Given the description of an element on the screen output the (x, y) to click on. 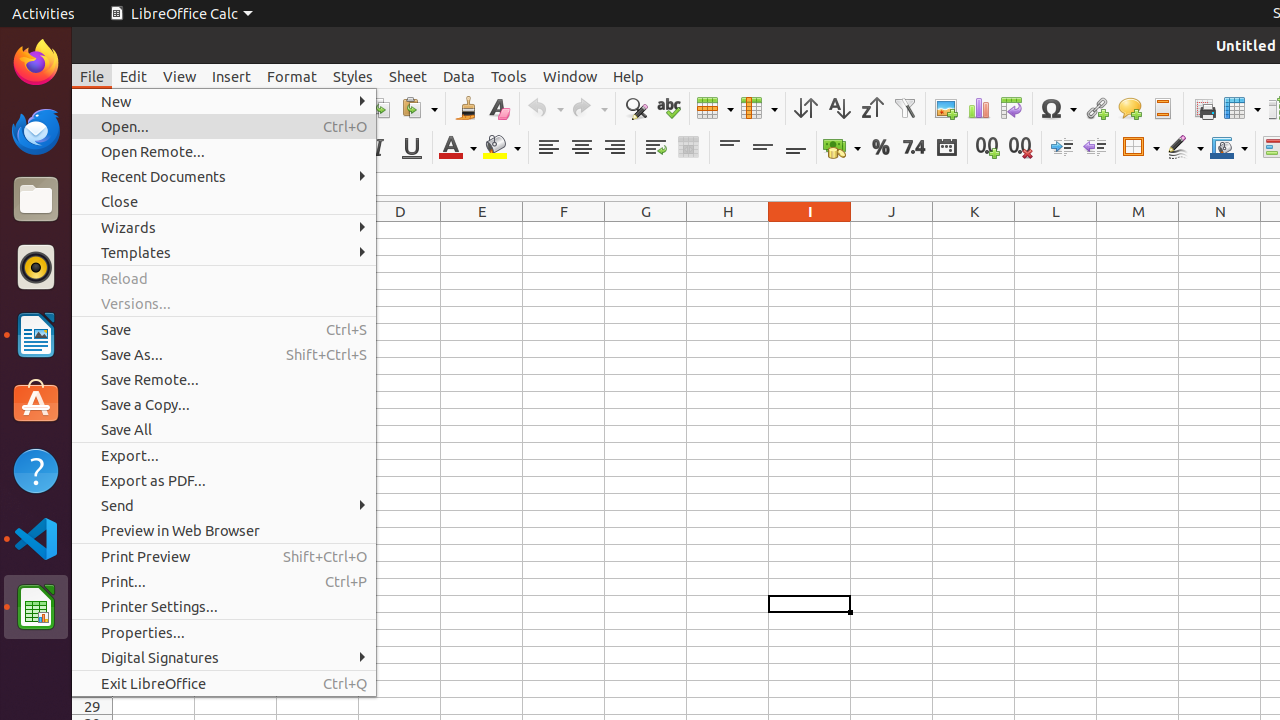
File Element type: menu (92, 76)
Activities Element type: label (43, 13)
Border Style Element type: push-button (1185, 147)
Data Element type: menu (459, 76)
Sort Descending Element type: push-button (871, 108)
